Given the description of an element on the screen output the (x, y) to click on. 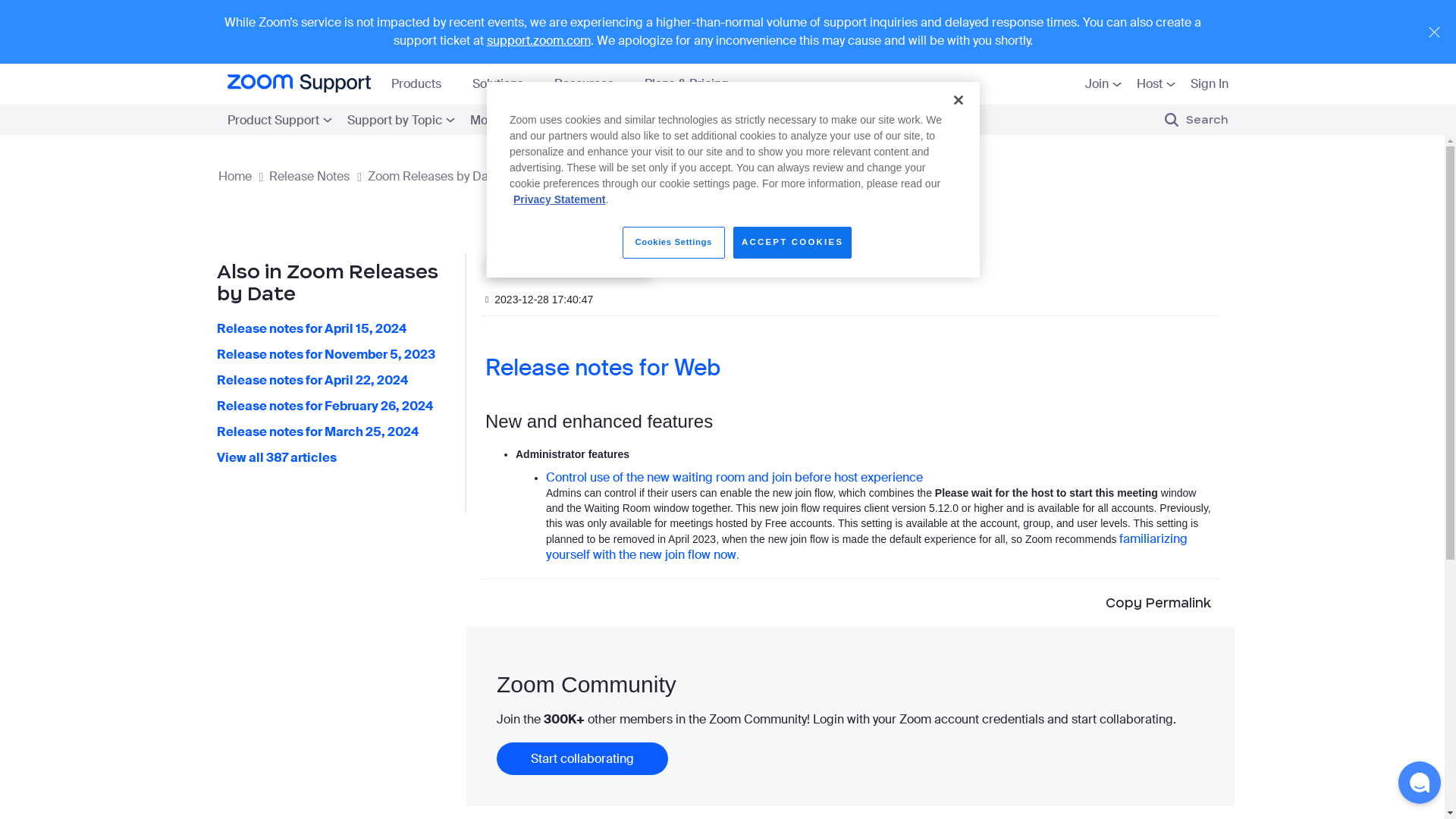
support.zoom.com (538, 40)
Products (422, 87)
Solutions (503, 87)
